Given the description of an element on the screen output the (x, y) to click on. 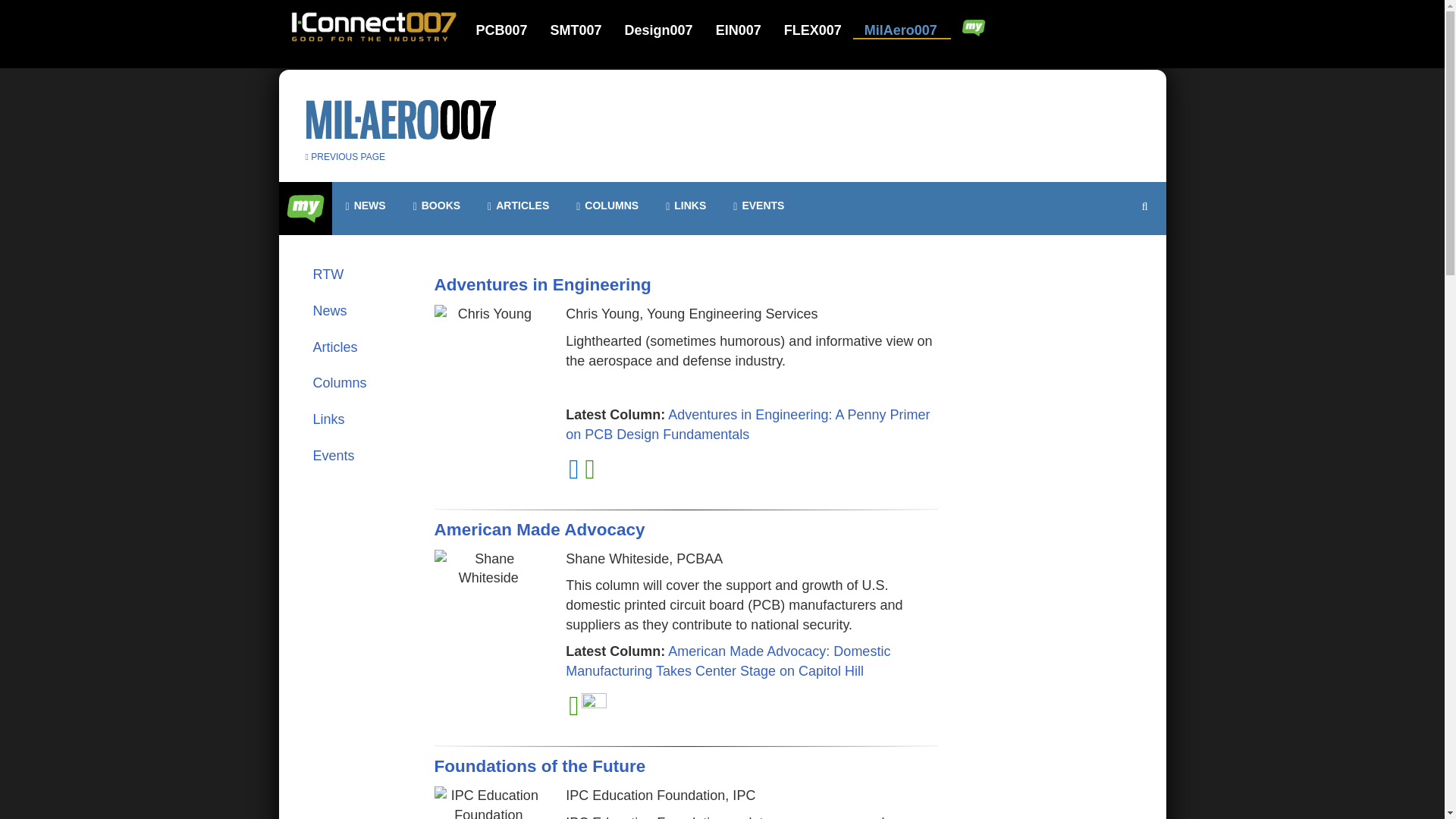
ARTICLES (518, 205)
NEWS (364, 205)
Design007 (667, 30)
PCB007 (510, 30)
EIN007 (748, 30)
SMT007 (584, 30)
COLUMNS (607, 205)
PREVIOUS PAGE (344, 156)
MilAero007 (901, 30)
BOOKS (436, 205)
